Given the description of an element on the screen output the (x, y) to click on. 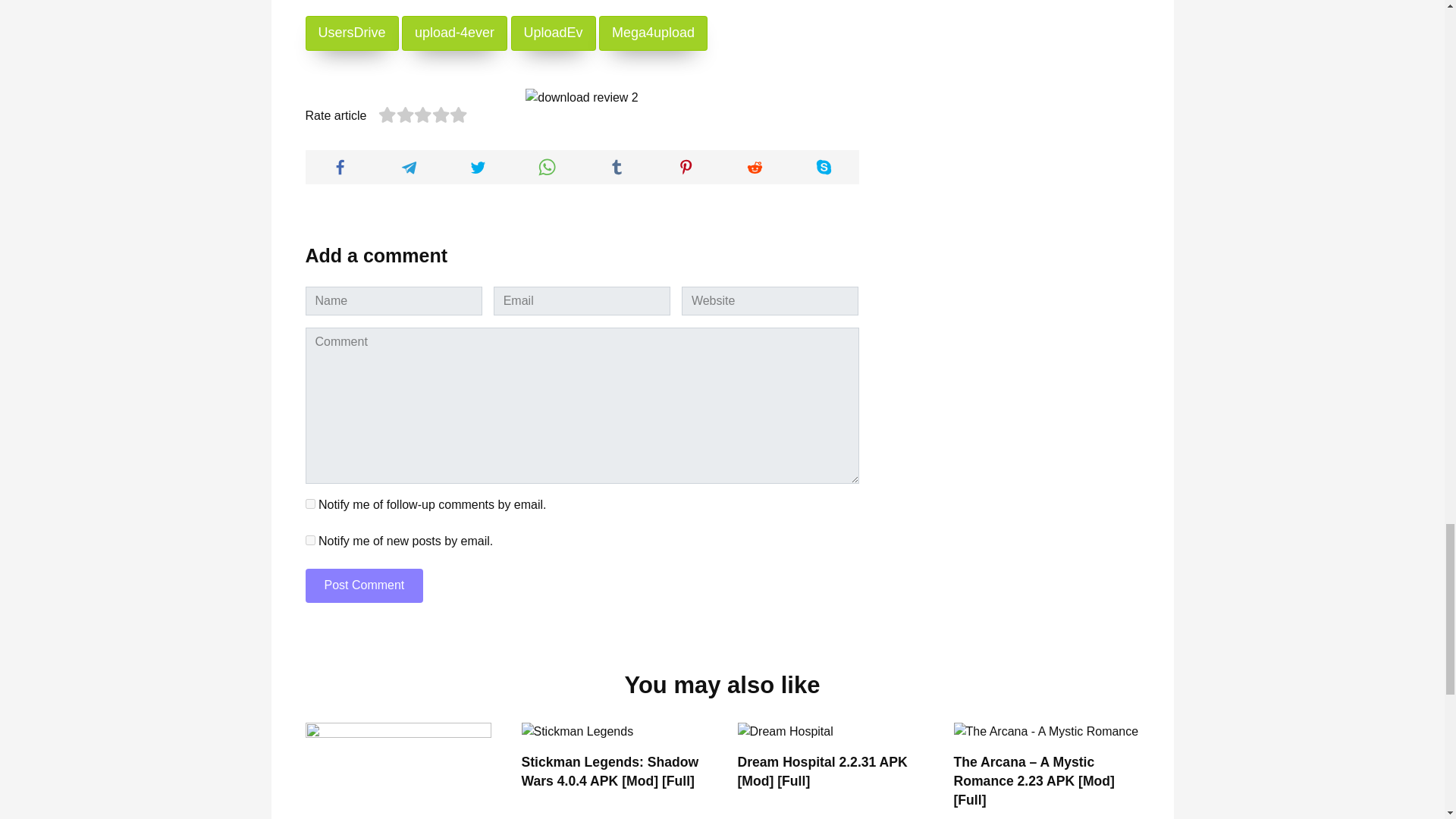
subscribe (309, 503)
Post Comment (363, 585)
subscribe (309, 540)
